Given the description of an element on the screen output the (x, y) to click on. 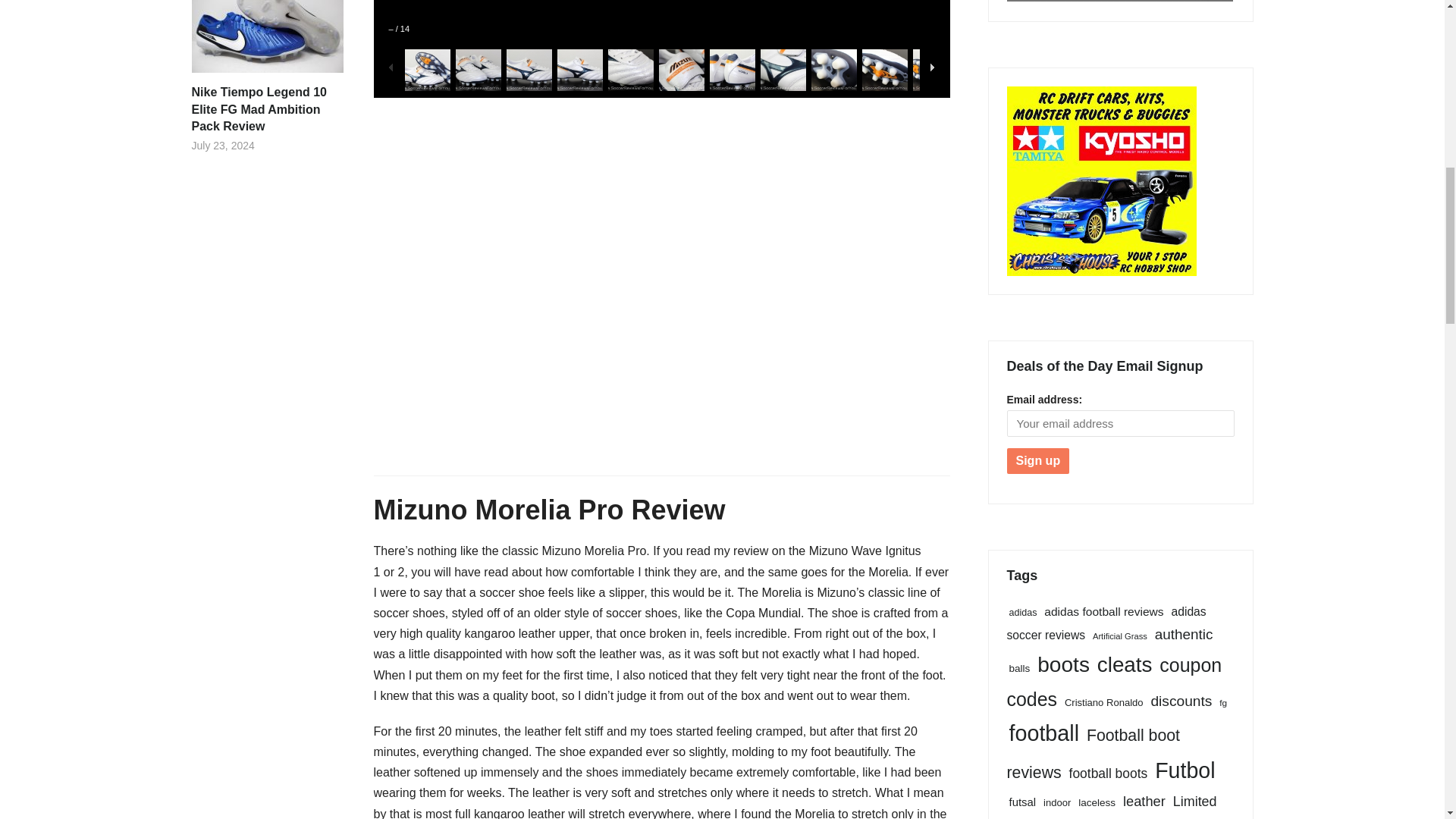
Sign up (1038, 460)
